Given the description of an element on the screen output the (x, y) to click on. 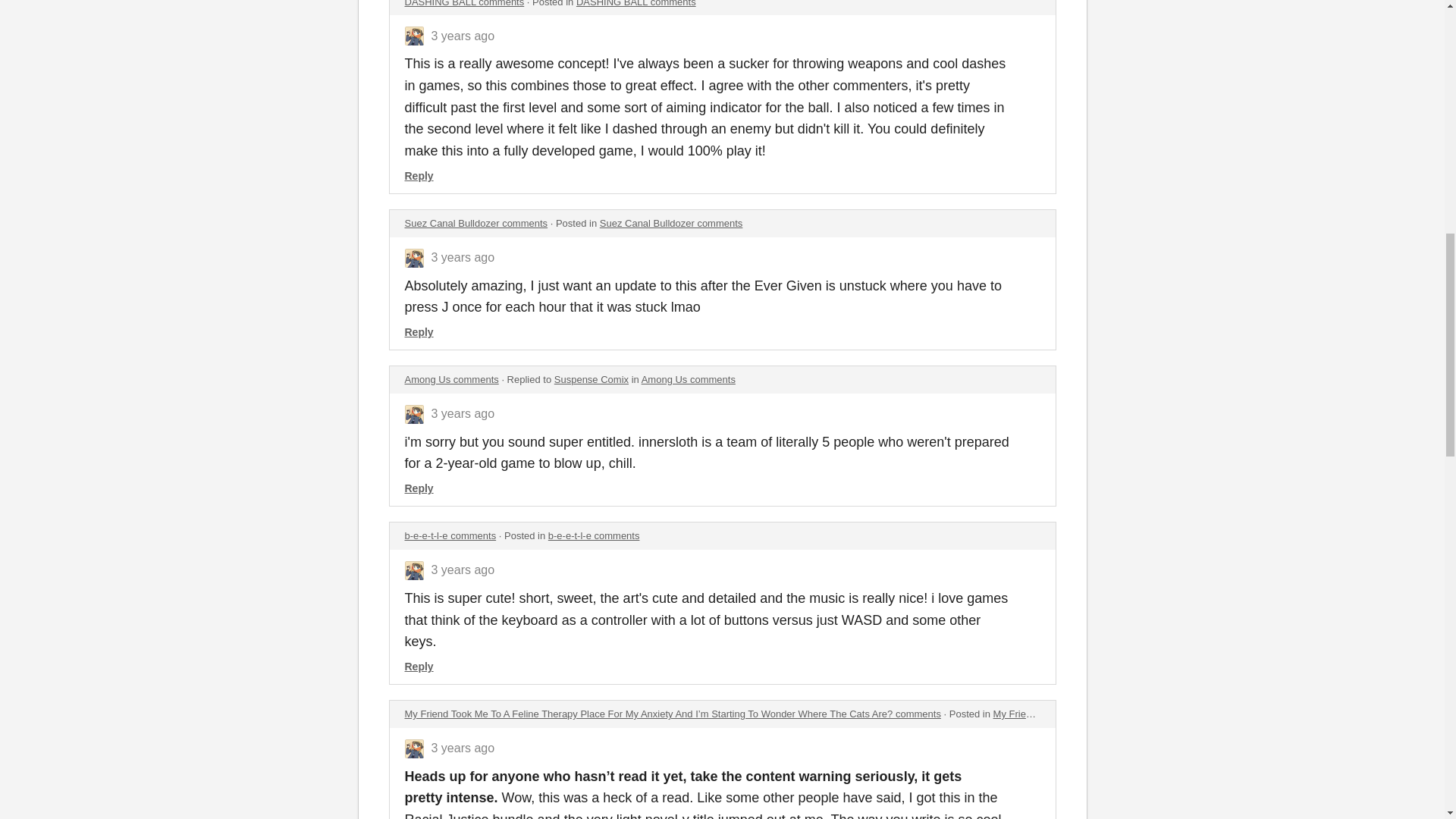
2021-03-18 21:16:03 (462, 413)
2021-03-26 21:33:01 (462, 256)
2020-10-22 03:35:56 (462, 748)
2021-06-19 03:30:59 (462, 35)
2021-01-27 20:49:24 (462, 569)
